Given the description of an element on the screen output the (x, y) to click on. 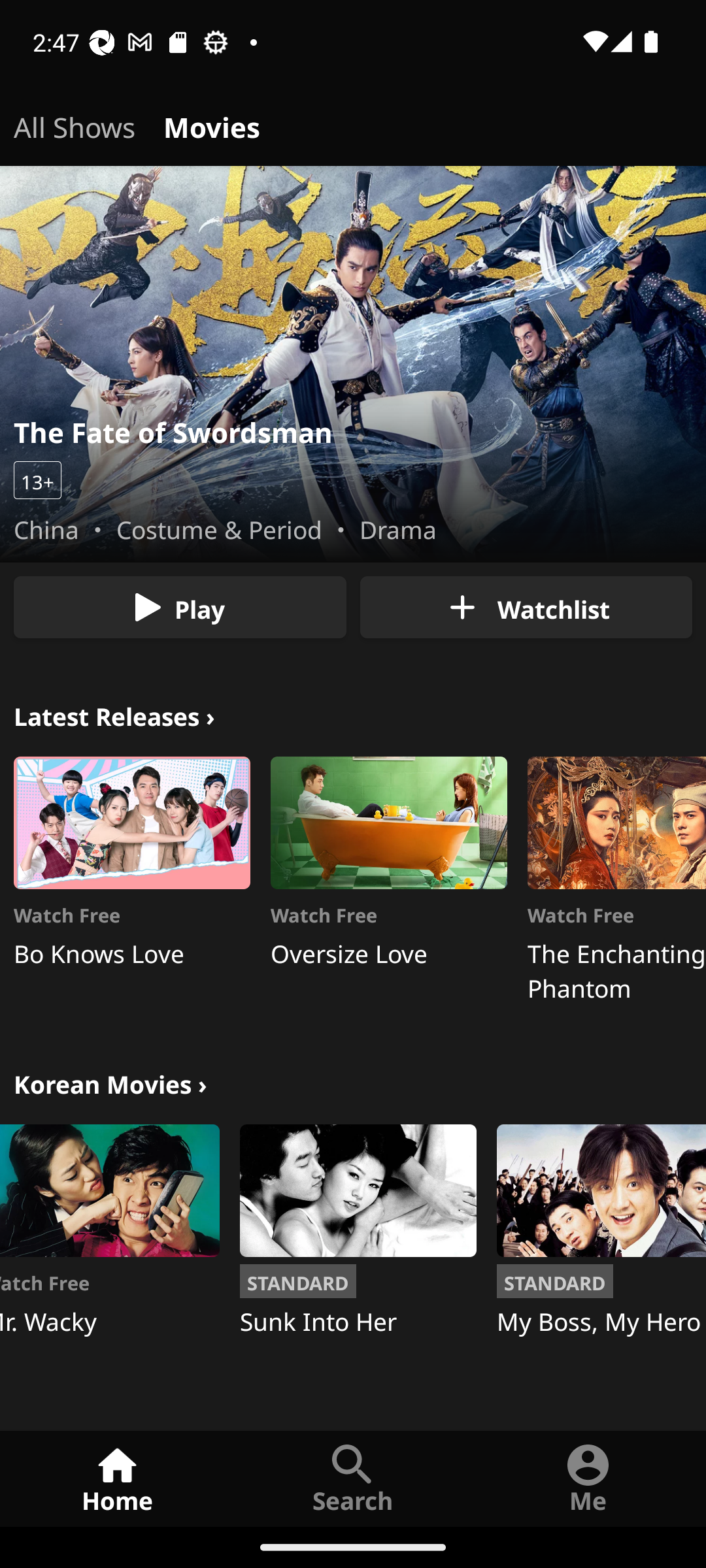
home_tab_all_shows All Shows (74, 124)
Play home_billboard_play_button (179, 607)
Watchlist home_billboard_add_to_watchlist_button (526, 607)
Latest Releases › latest_releases_movies (114, 714)
Korean Movies › korean_movies_trending (110, 1082)
Search (352, 1478)
Me (588, 1478)
